Given the description of an element on the screen output the (x, y) to click on. 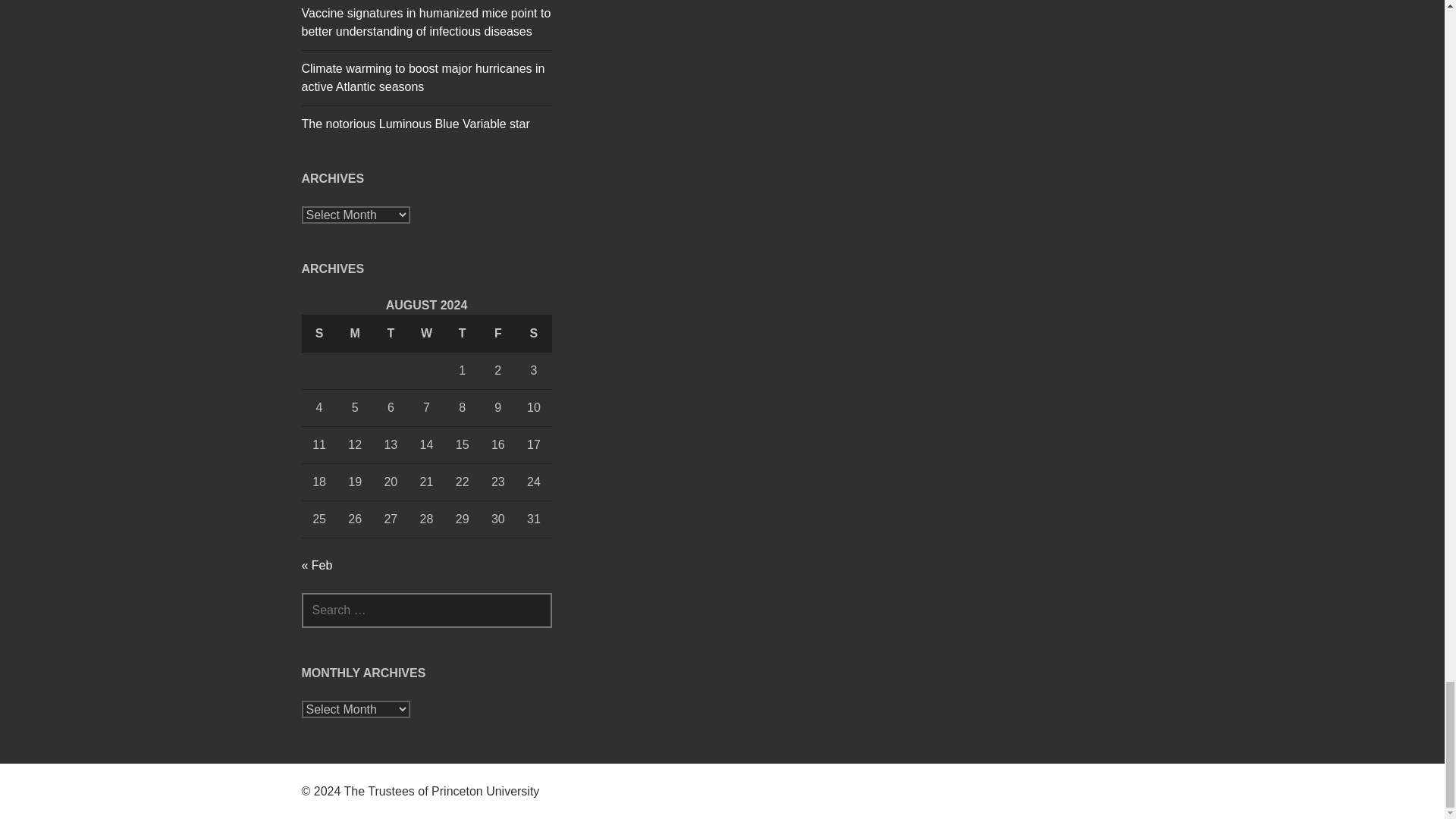
Sunday (319, 333)
Monday (354, 333)
Tuesday (390, 333)
